Given the description of an element on the screen output the (x, y) to click on. 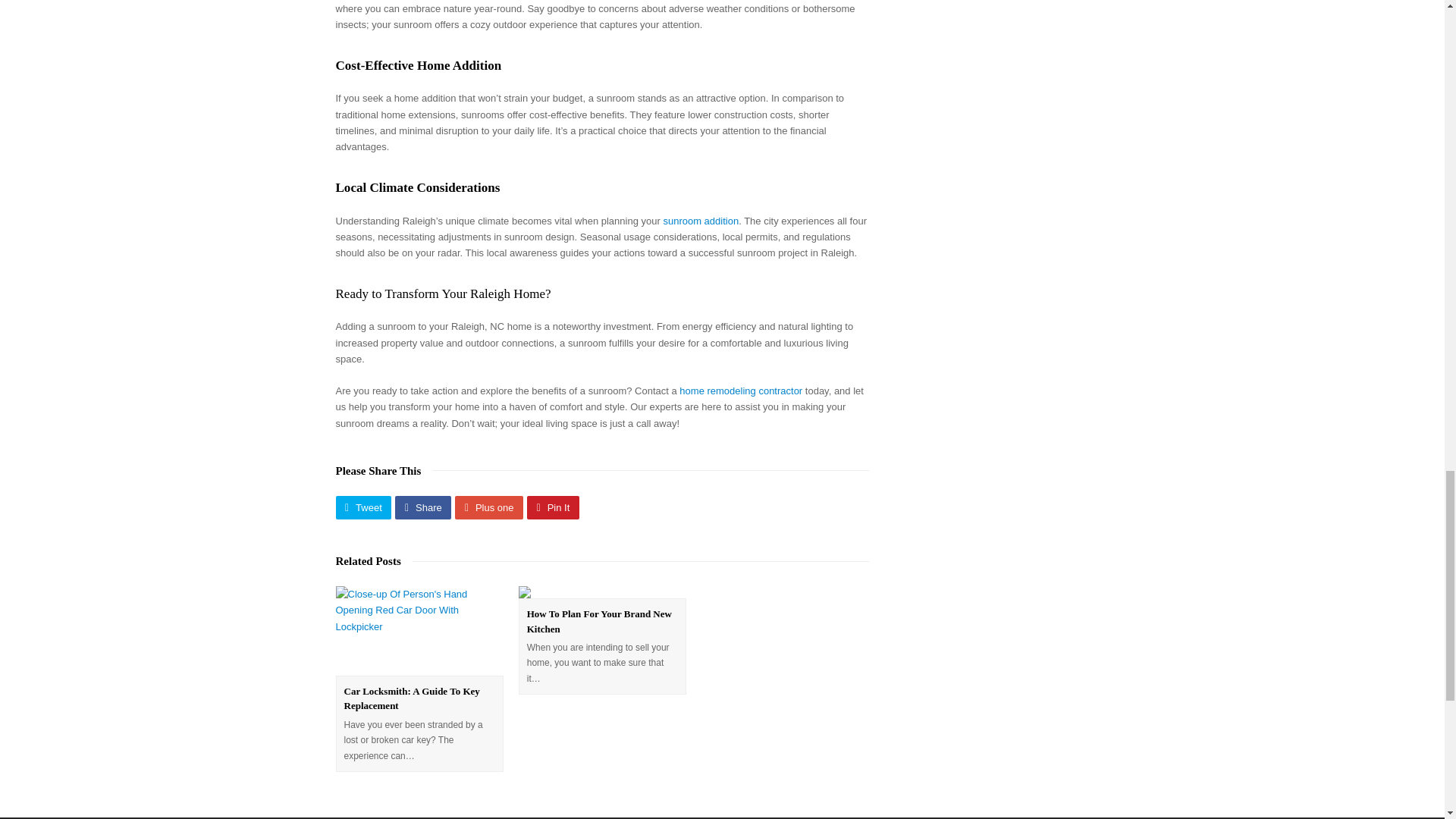
Share on Facebook (422, 507)
Pin It (553, 507)
How To Plan For Your Brand New Kitchen (599, 621)
Plus one (488, 507)
Tweet (362, 507)
How To Plan For Your Brand New Kitchen (599, 621)
Car Locksmith: A Guide To Key Replacement (411, 698)
Share on Twitter (362, 507)
home remodeling contractor (740, 390)
Share on Pinterest (553, 507)
